Given the description of an element on the screen output the (x, y) to click on. 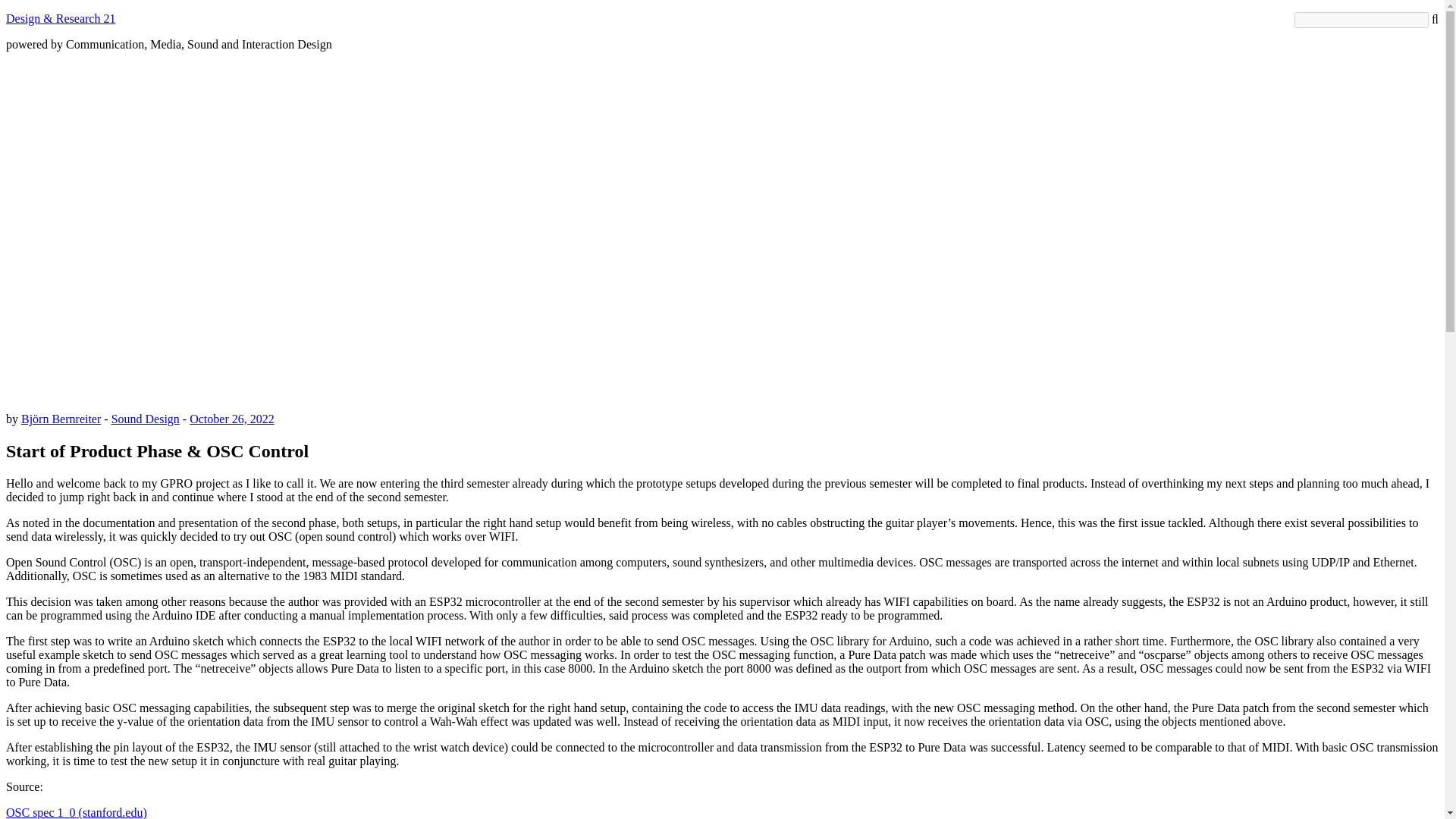
Sound Design (145, 418)
October 26, 2022 (232, 418)
